Given the description of an element on the screen output the (x, y) to click on. 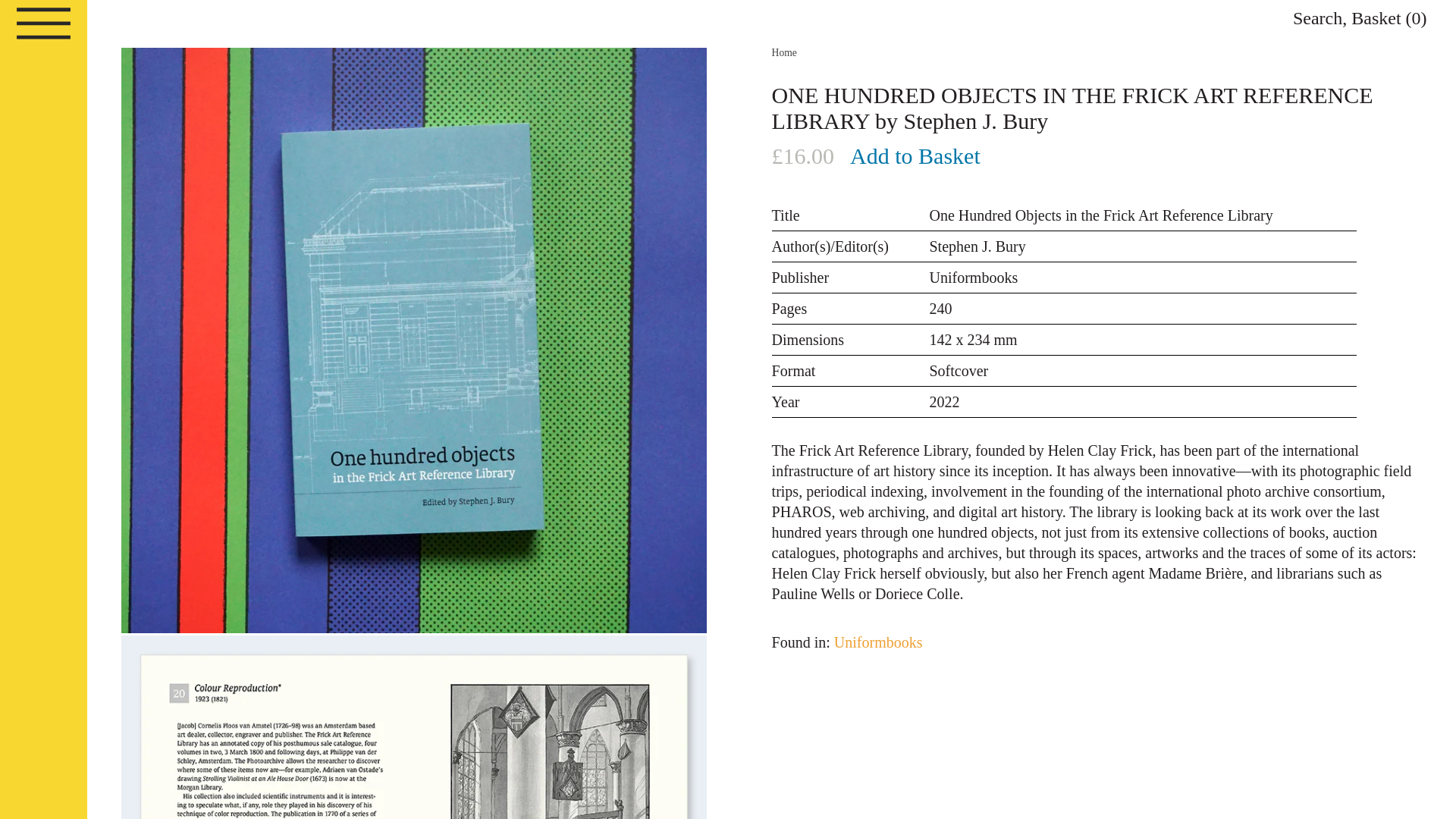
Add to Basket (915, 155)
Add to Basket (915, 155)
Search (1317, 17)
Home (783, 52)
Uniformbooks (878, 641)
